Given the description of an element on the screen output the (x, y) to click on. 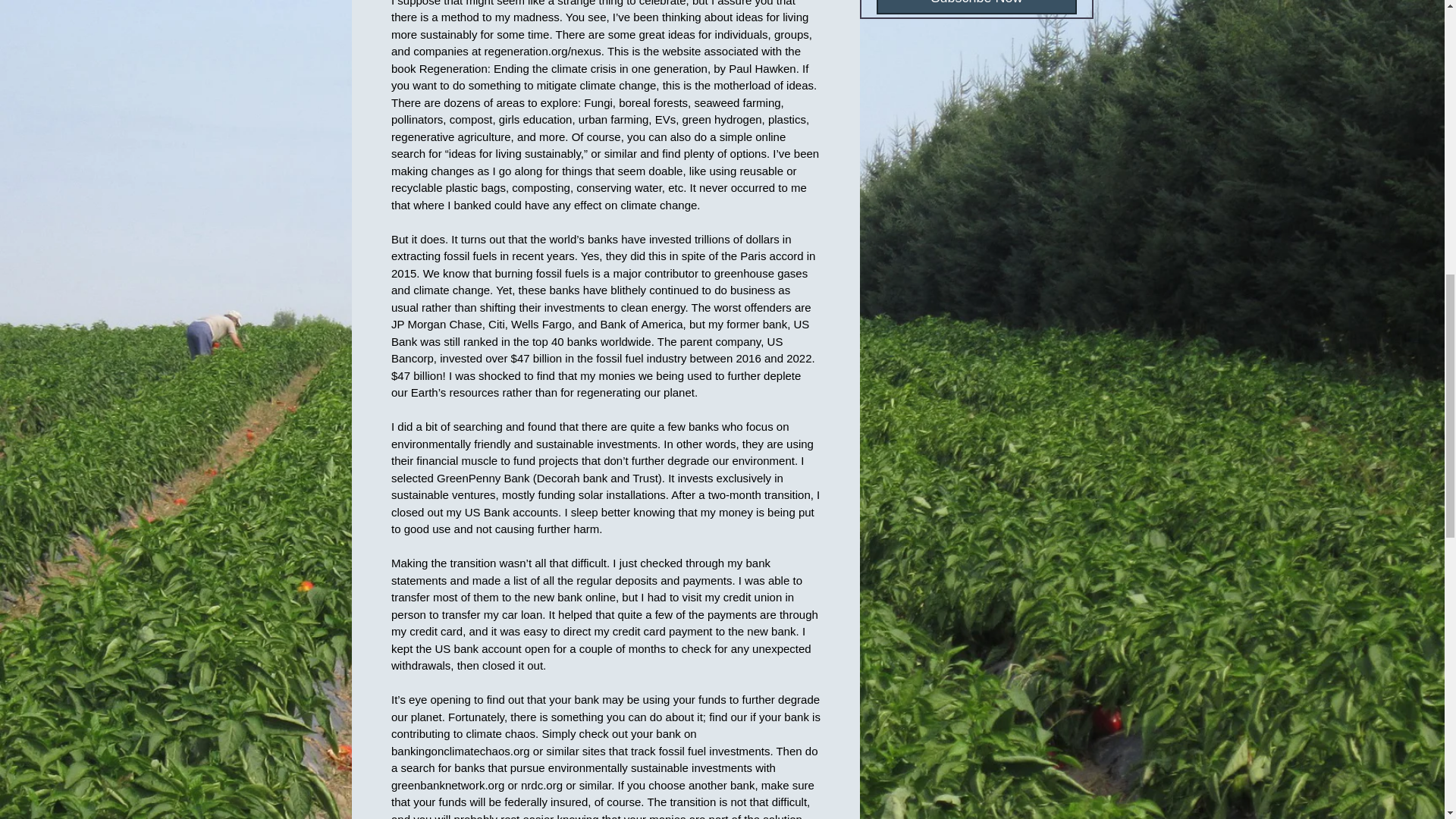
greenbanknetwork.org (447, 784)
nrdc.org (540, 784)
bankingonclimatechaos.org (460, 750)
Wix Get Subscribers (976, 10)
